Given the description of an element on the screen output the (x, y) to click on. 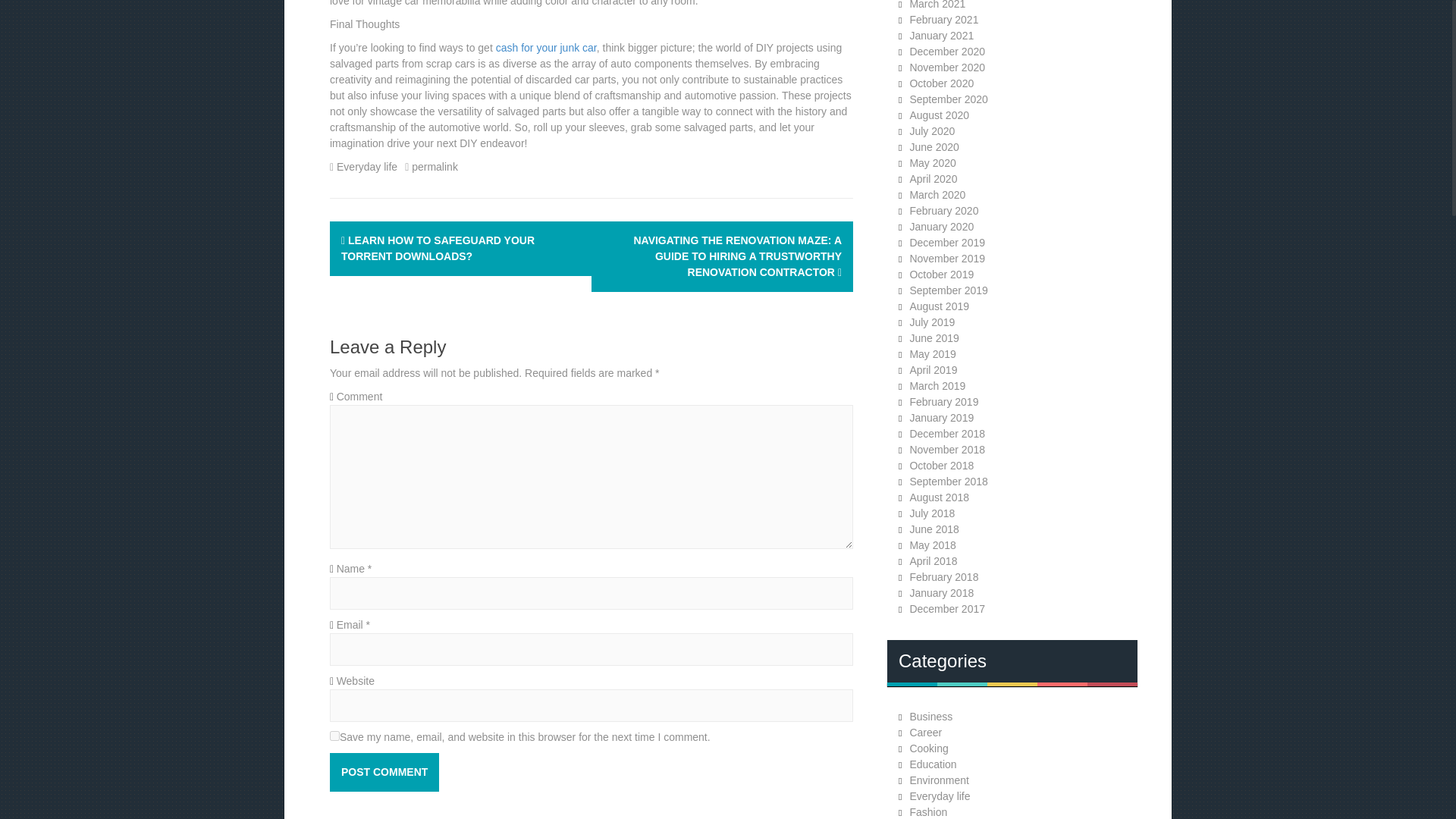
Post Comment (384, 771)
